Given the description of an element on the screen output the (x, y) to click on. 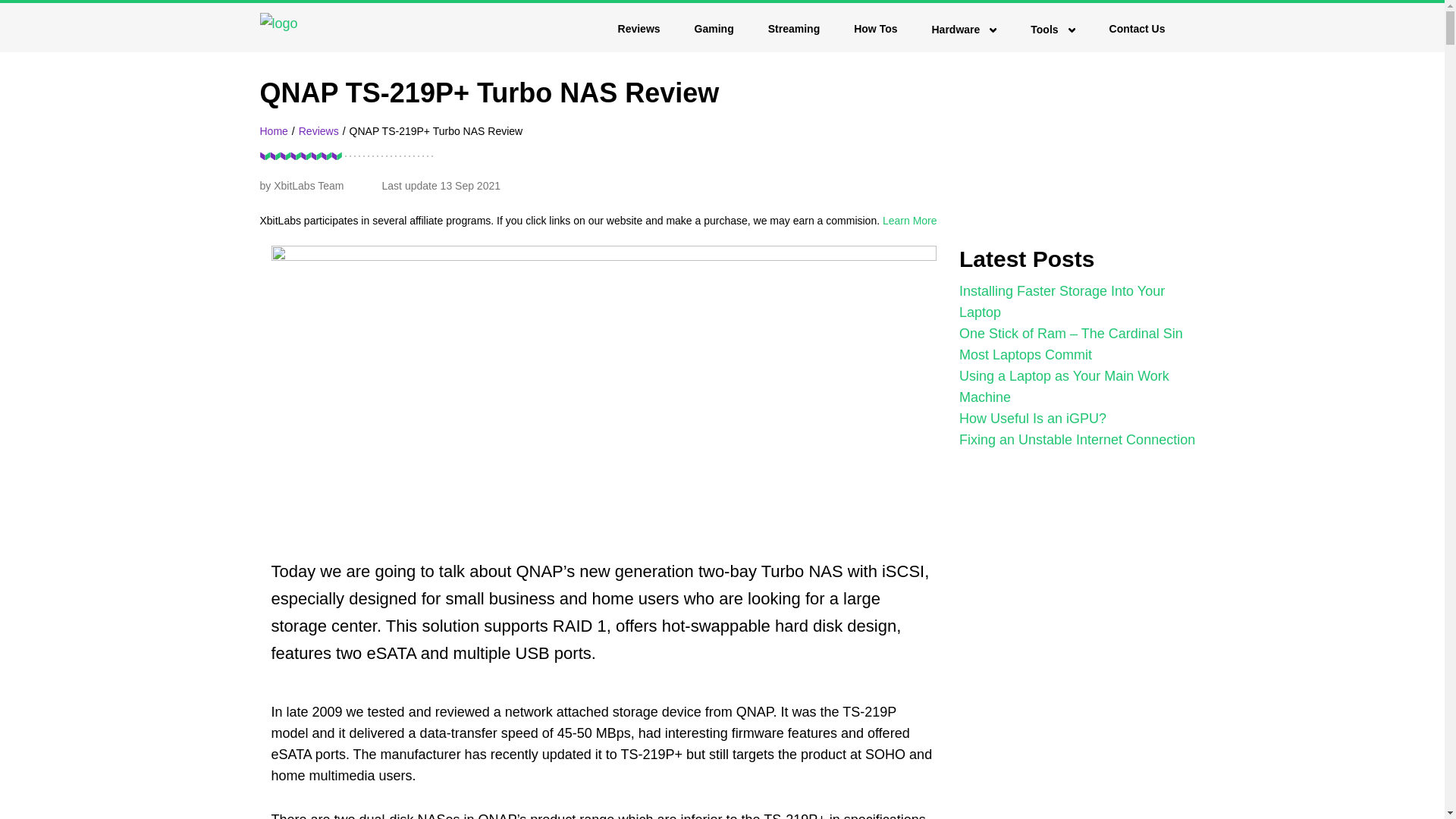
Learn More (909, 220)
Reviews (639, 28)
Contact Us (1137, 28)
Streaming (793, 28)
How Tos (874, 28)
Using a Laptop as Your Main Work Machine (1064, 386)
Tools (1052, 29)
How Useful Is an iGPU? (1032, 418)
Hardware (963, 29)
Reviews (318, 131)
Home (272, 131)
Installing Faster Storage Into Your Laptop (1061, 301)
Gaming (713, 28)
